Given the description of an element on the screen output the (x, y) to click on. 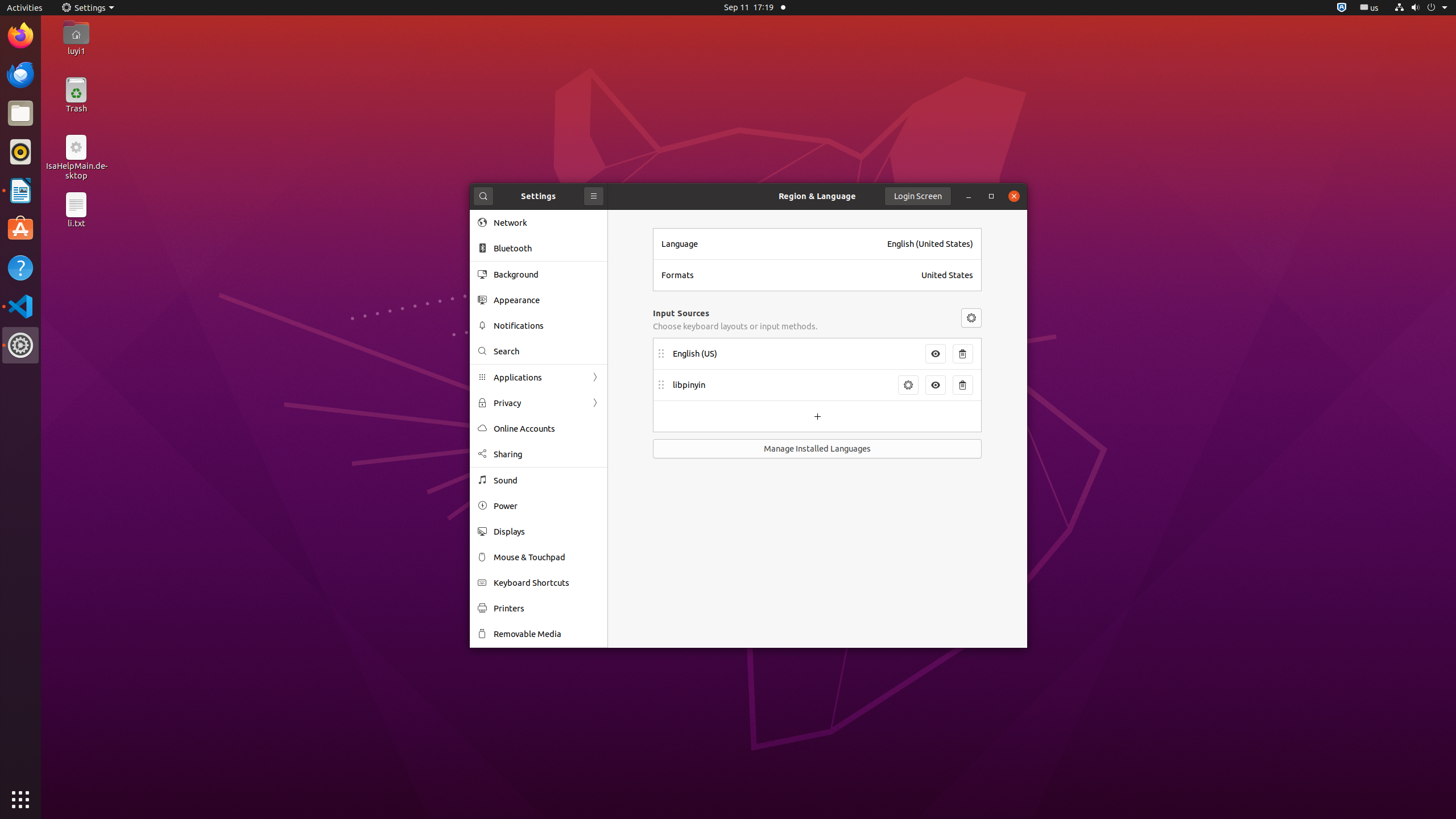
United States Element type: label (947, 274)
Settings Element type: menu (87, 7)
Applications Element type: label (538, 377)
Mouse & Touchpad Element type: label (546, 556)
Menu Element type: toggle-button (971, 317)
